Given the description of an element on the screen output the (x, y) to click on. 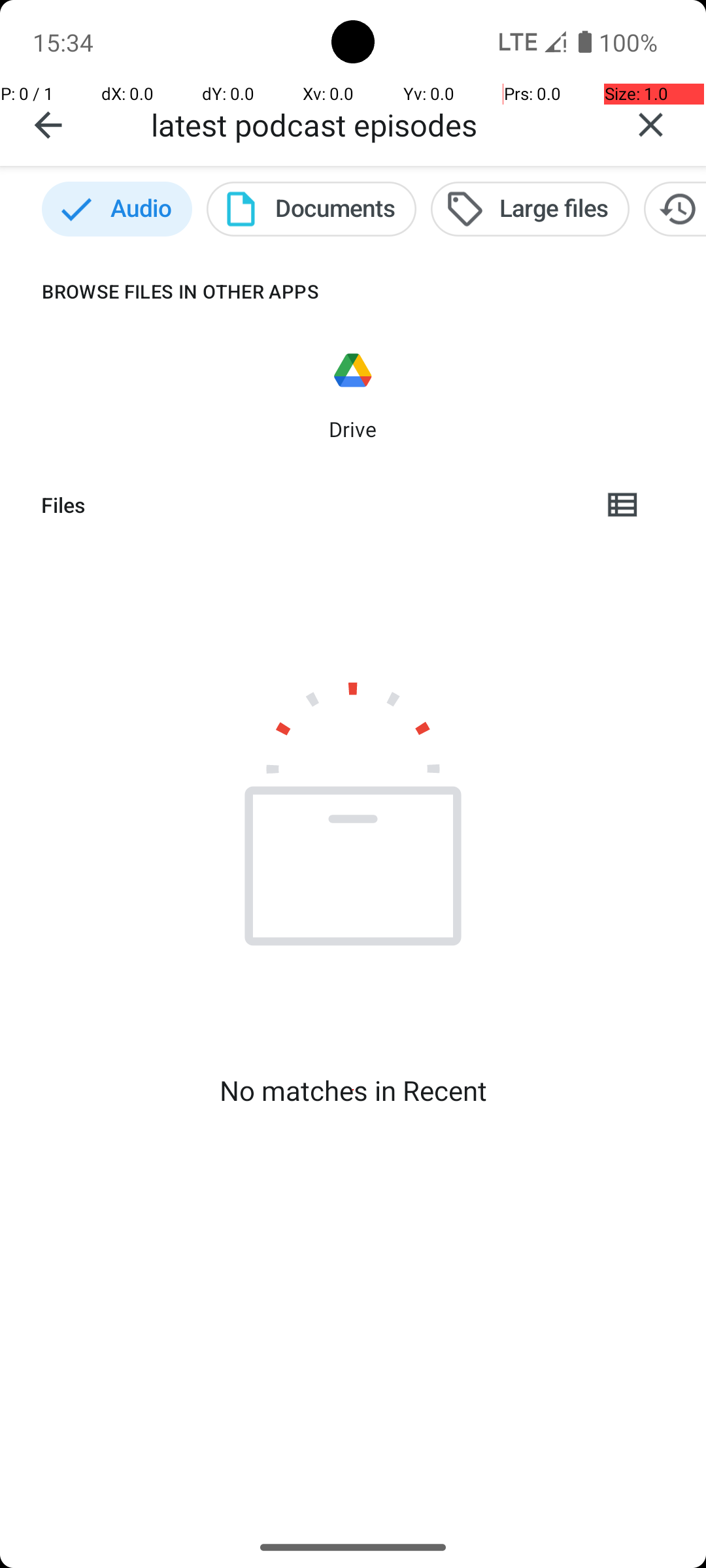
latest podcast episodes Element type: android.widget.AutoCompleteTextView (373, 124)
No matches in Recent Element type: android.widget.TextView (352, 1089)
